Given the description of an element on the screen output the (x, y) to click on. 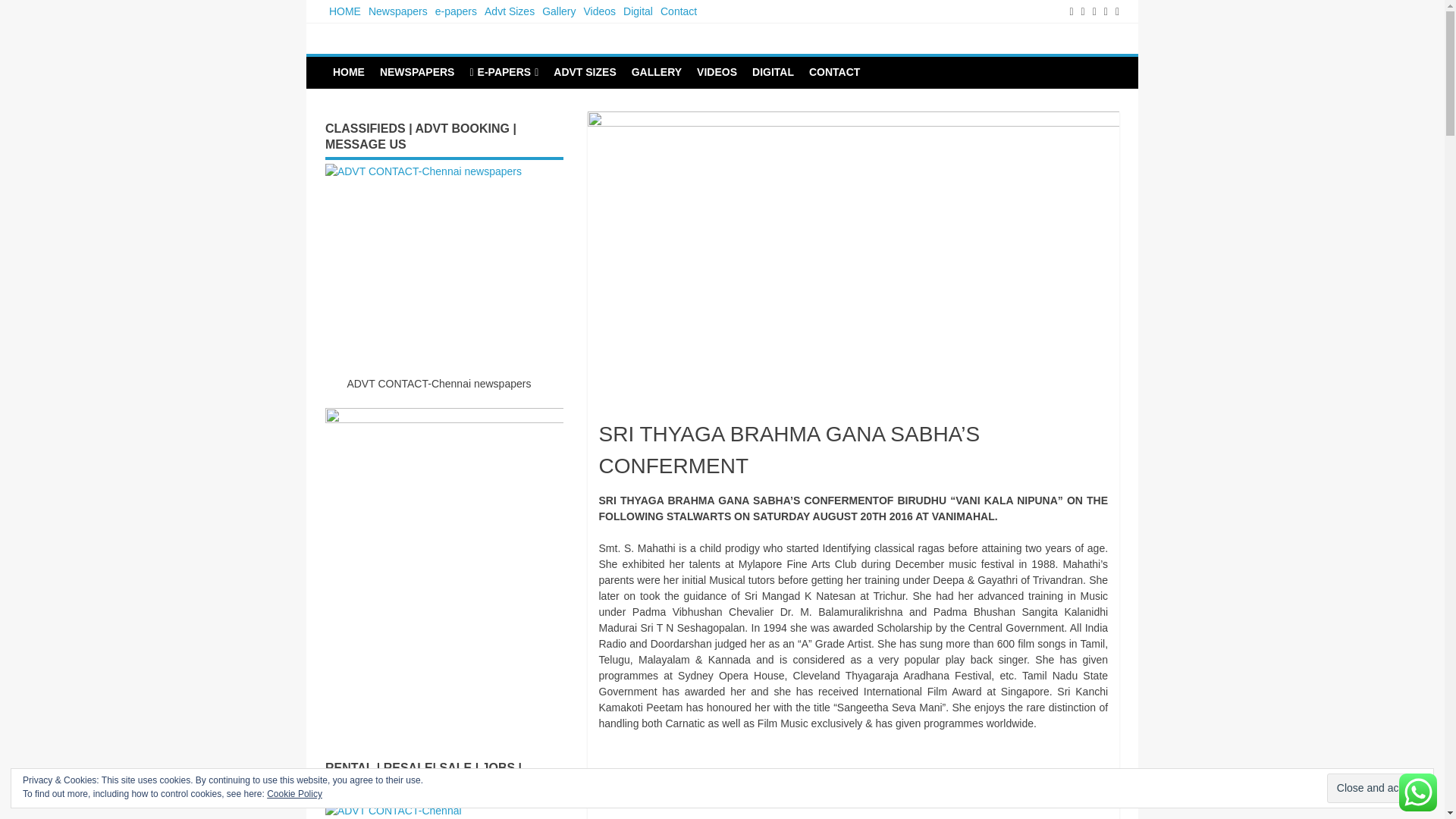
Close and accept (1377, 788)
Videos (599, 11)
E-PAPERS (503, 72)
Advt Sizes (509, 11)
Digital (638, 11)
Newspapers Chennai (440, 50)
NEWSPAPERS (417, 71)
GALLERY (656, 71)
WhatsApp us (1418, 792)
ADVT SIZES (584, 71)
Contact (678, 11)
e-papers (455, 11)
Gallery (558, 11)
HOME (344, 11)
HOME (348, 71)
